Given the description of an element on the screen output the (x, y) to click on. 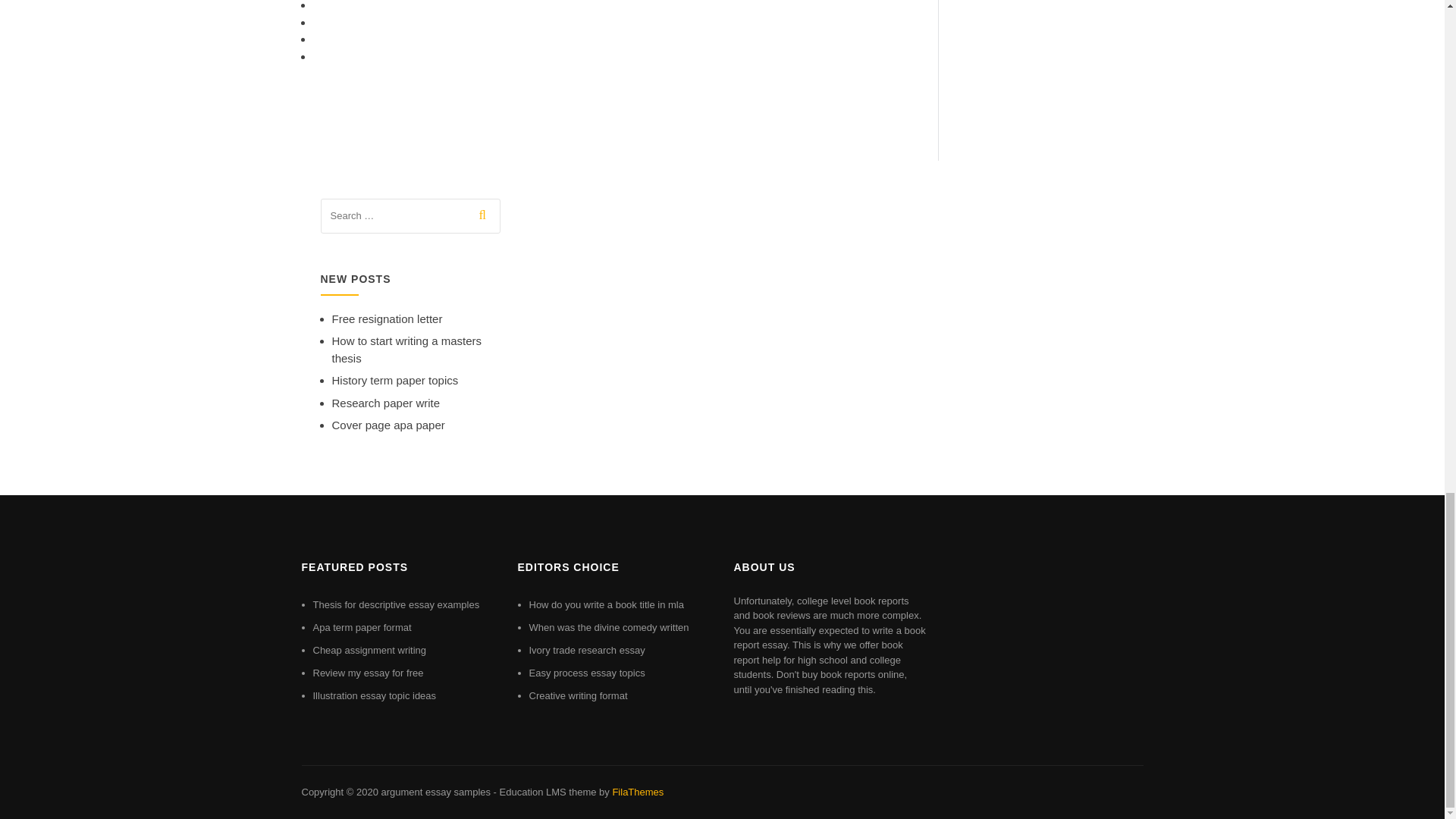
History term paper topics (394, 379)
How do you write a book title in mla (606, 604)
Review my essay for free (368, 672)
Cheap assignment writing (369, 650)
argument essay samples (435, 791)
Apa term paper format (361, 627)
Easy process essay topics (587, 672)
Illustration essay topic ideas (374, 695)
Free resignation letter (386, 318)
Research paper write (386, 402)
How to start writing a masters thesis (406, 349)
Thesis for descriptive essay examples (396, 604)
argument essay samples (435, 791)
Ivory trade research essay (587, 650)
Cover page apa paper (388, 424)
